Given the description of an element on the screen output the (x, y) to click on. 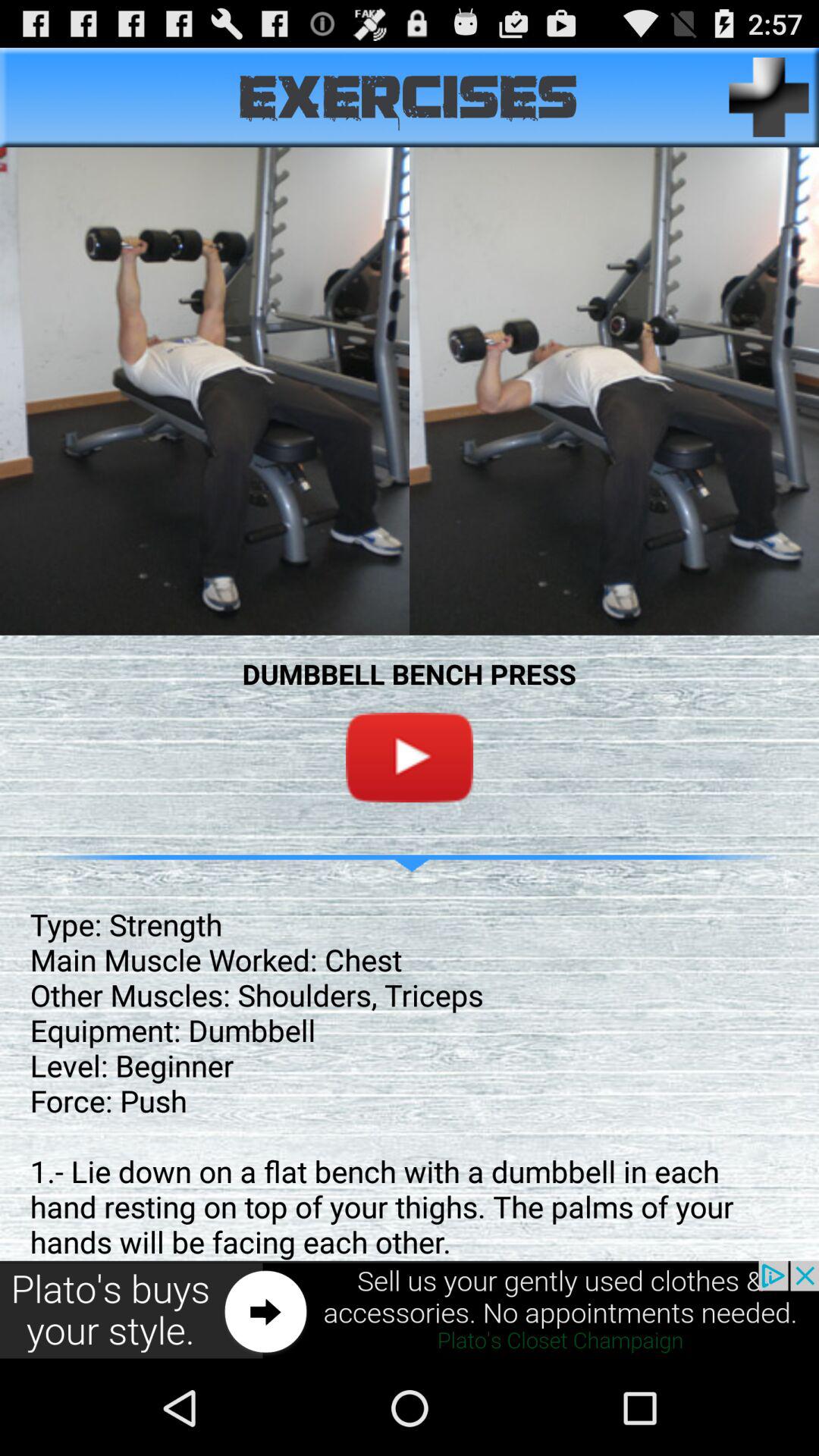
advertisement banner (409, 1310)
